Given the description of an element on the screen output the (x, y) to click on. 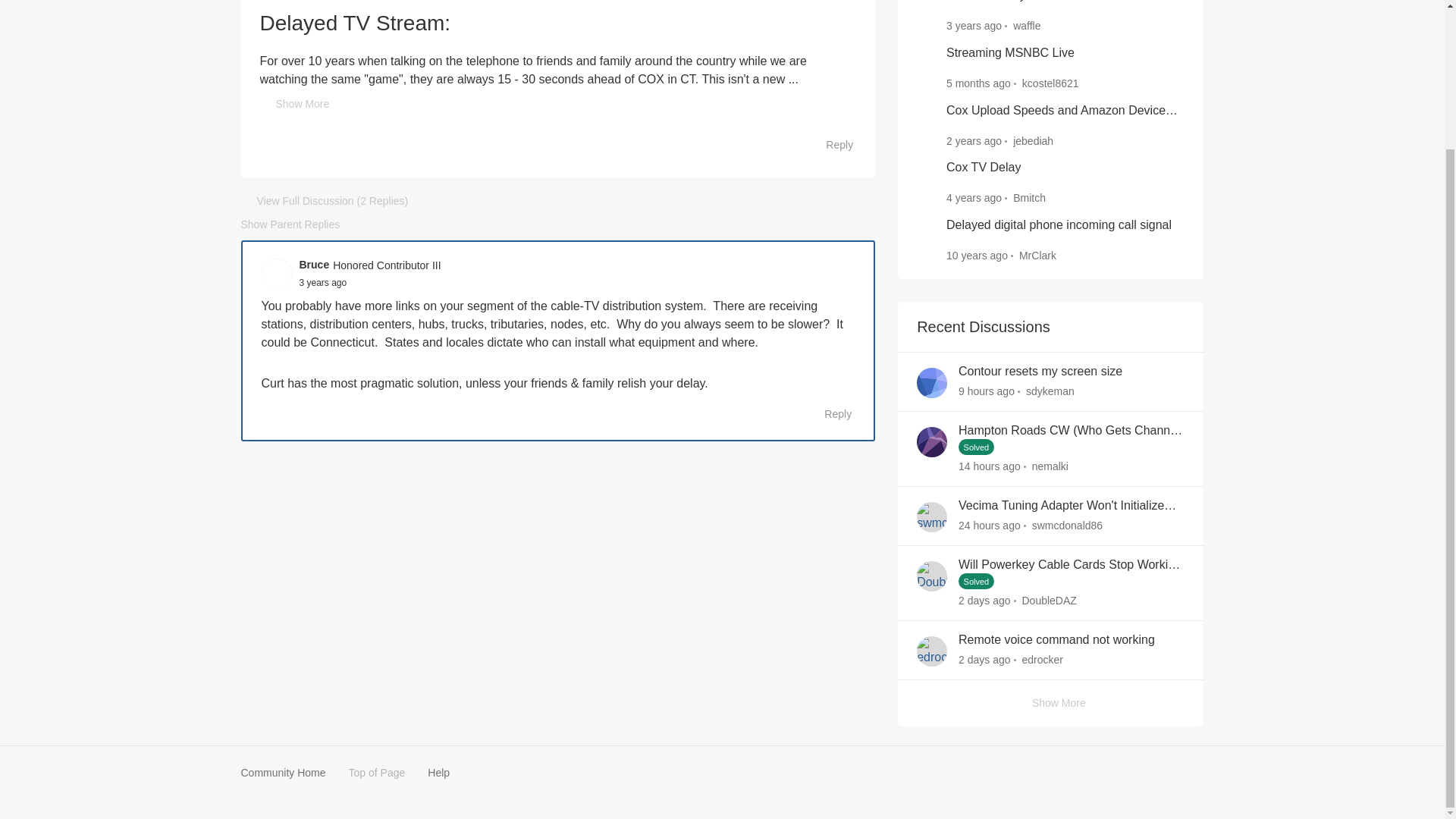
August 25, 2015 at 1:29 PM (976, 255)
kcostel8621 (1050, 83)
Cox TV Delay (983, 167)
May 23, 2023 at 3:46 AM (973, 140)
Bmitch (1029, 198)
MrClark (1038, 255)
February 1, 2022 at 3:07 PM (322, 282)
April 9, 2024 at 11:17 PM (978, 82)
Contour resets my screen size (1040, 371)
Will Powerkey Cable Cards Stop Working In October? (1071, 565)
